Given the description of an element on the screen output the (x, y) to click on. 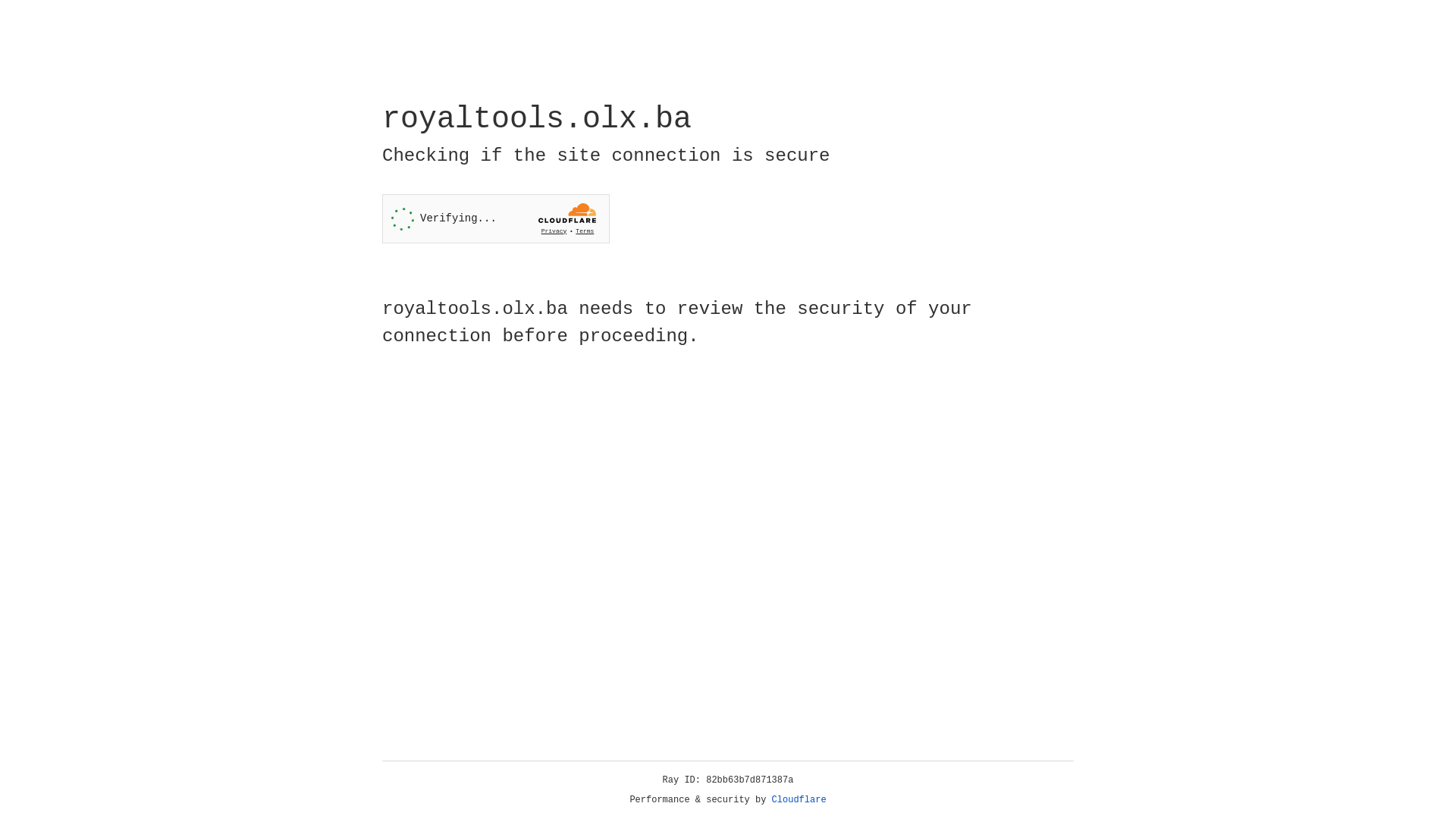
Widget containing a Cloudflare security challenge Element type: hover (495, 218)
Cloudflare Element type: text (798, 799)
